Given the description of an element on the screen output the (x, y) to click on. 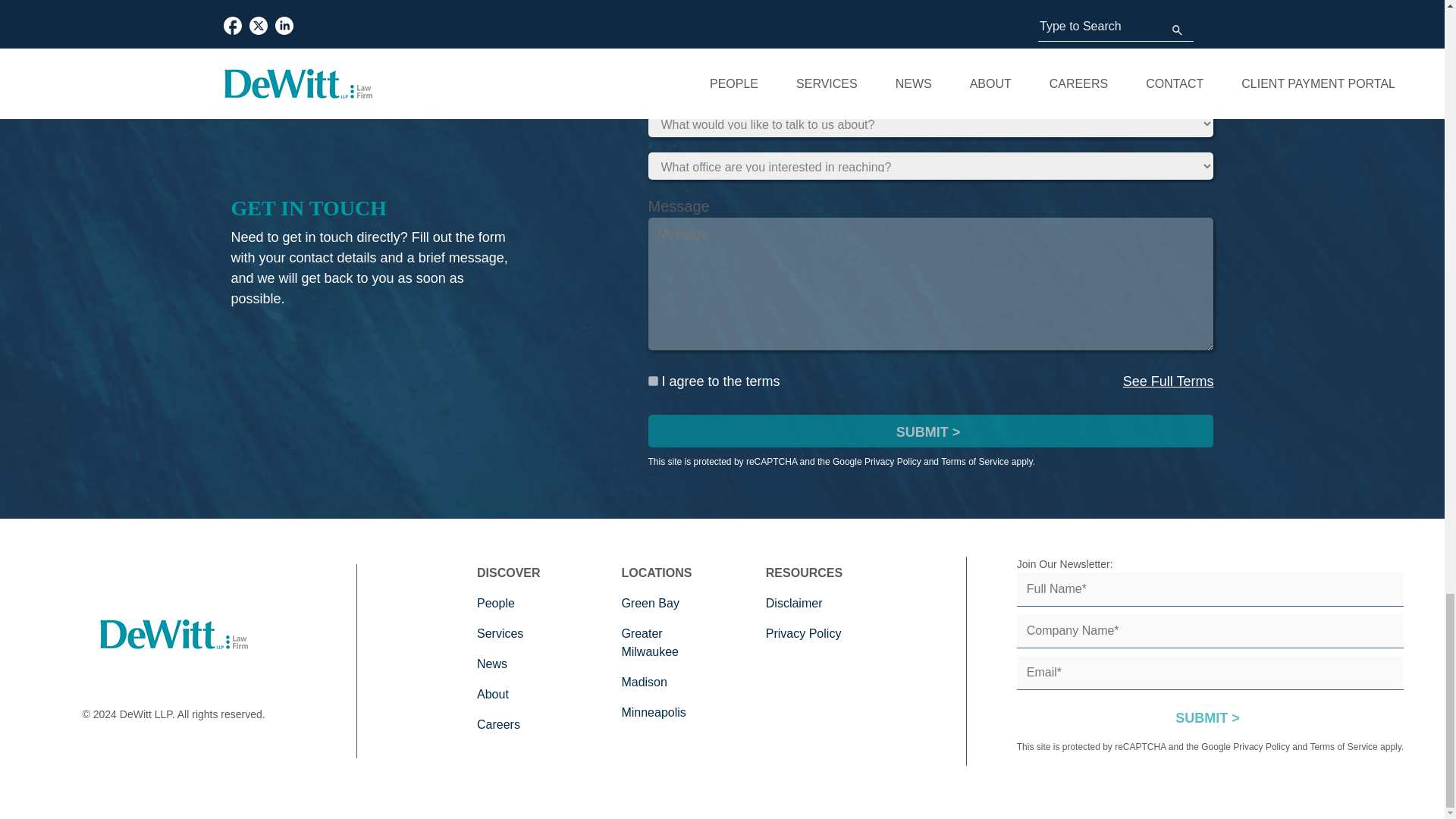
DeWitt LLP Logo (172, 634)
I agree to the terms (652, 380)
See Full Terms (1168, 381)
